Given the description of an element on the screen output the (x, y) to click on. 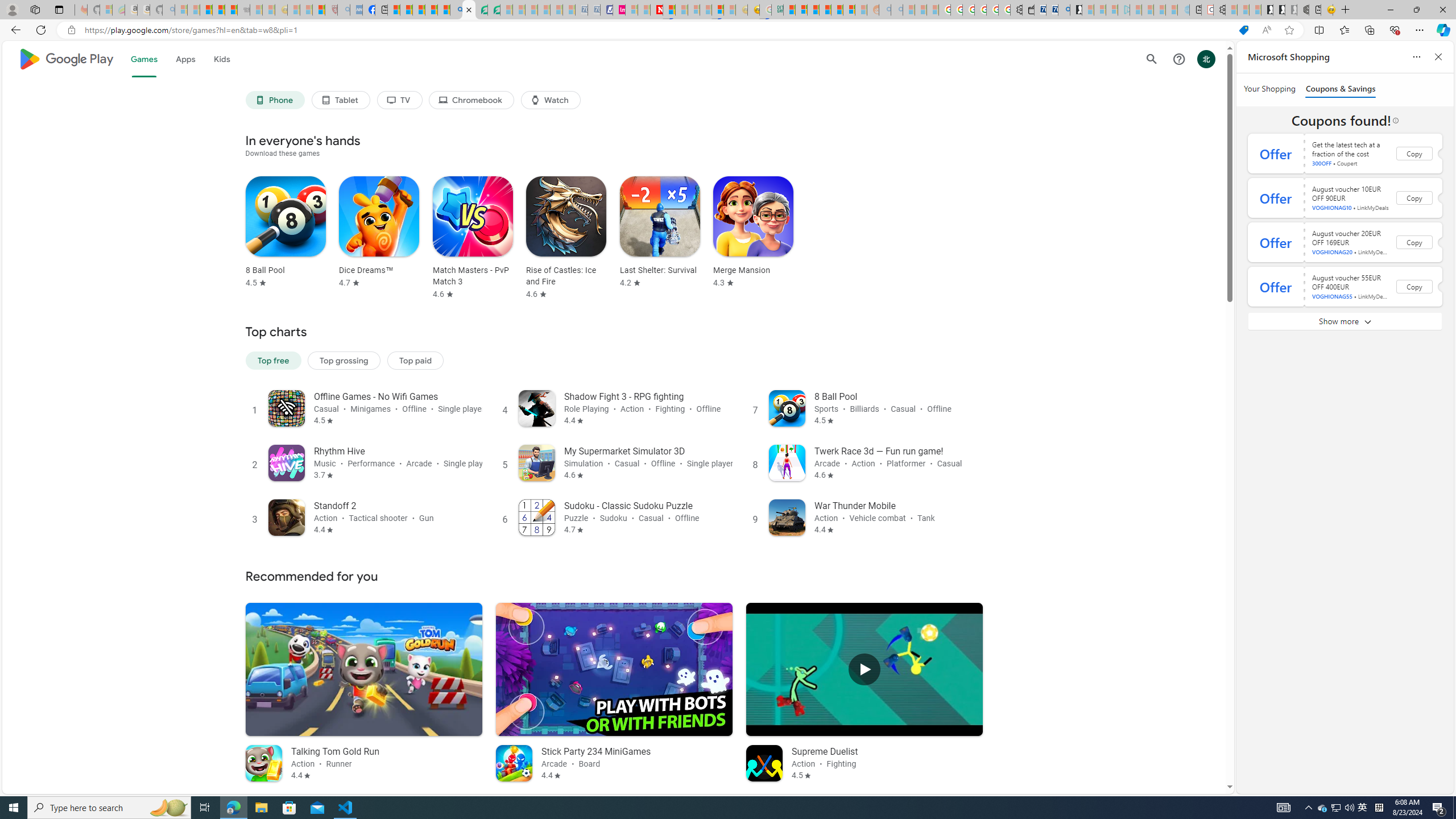
Kids (220, 58)
Combat Siege (243, 9)
Microsoft Start - Sleeping (1159, 9)
Google Play logo (65, 58)
Top free (272, 359)
Cheap Car Rentals - Save70.com - Sleeping (581, 9)
Terms of Use Agreement (481, 9)
